Given the description of an element on the screen output the (x, y) to click on. 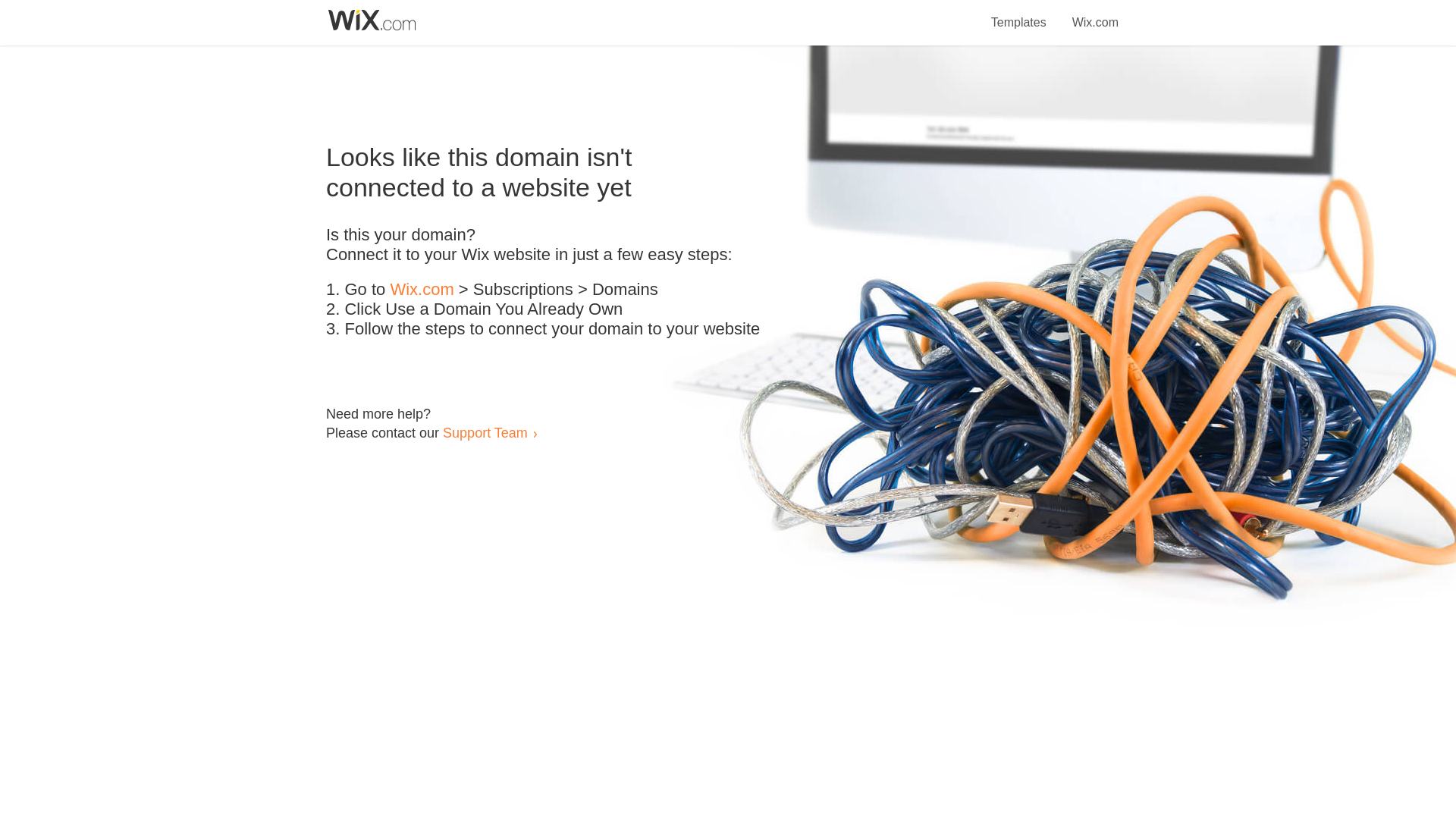
Support Team (484, 432)
Templates (1018, 14)
Wix.com (1095, 14)
Wix.com (421, 289)
